Given the description of an element on the screen output the (x, y) to click on. 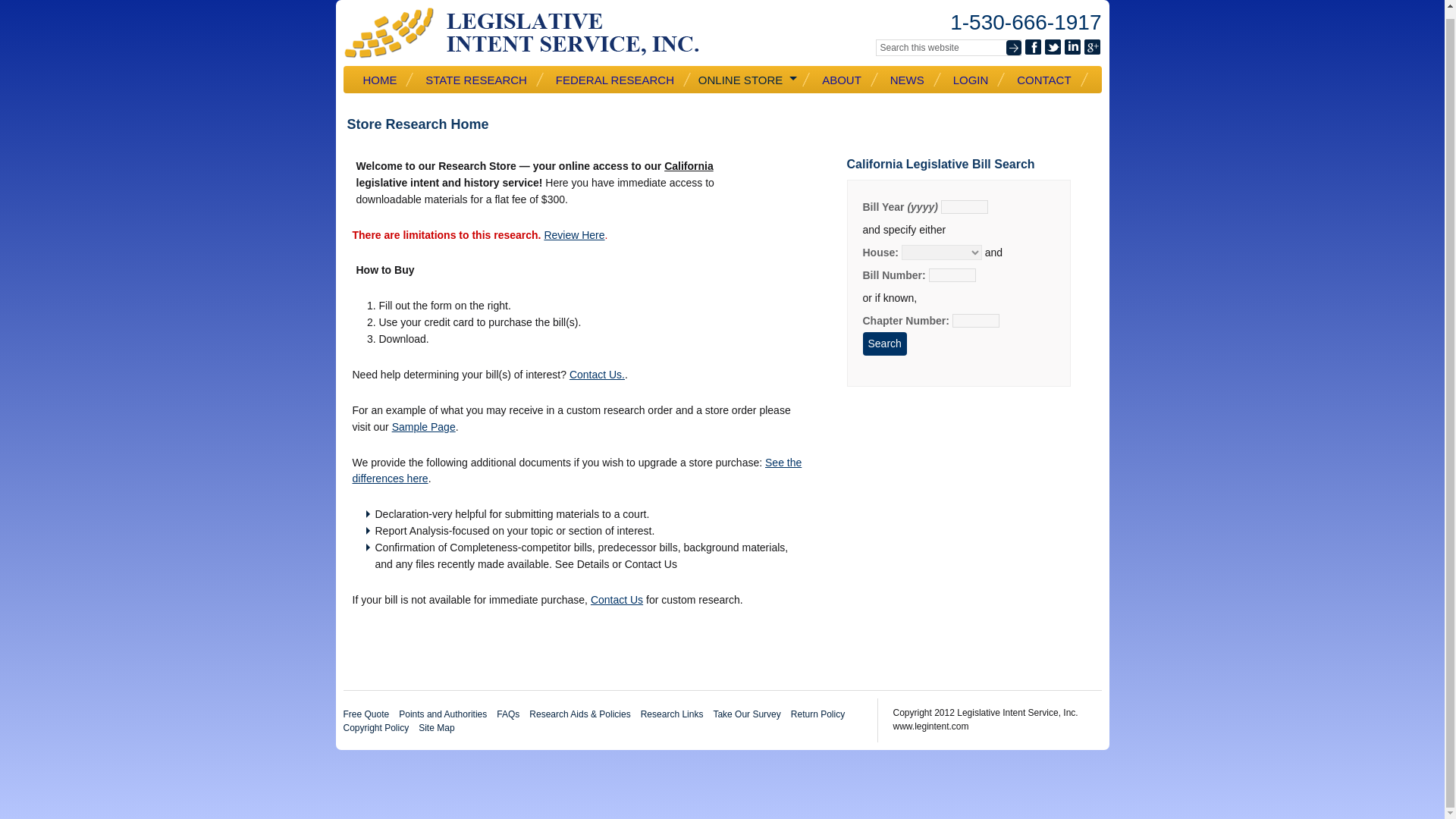
Search this website (947, 47)
ABOUT (846, 79)
Search this website (947, 47)
HOME (384, 79)
NEWS (912, 79)
Search (885, 343)
Legislative Intent Service, Inc. (532, 33)
Legislative Intent Service, Inc. (532, 33)
STATE RESEARCH (480, 79)
FEDERAL RESEARCH (620, 79)
